Given the description of an element on the screen output the (x, y) to click on. 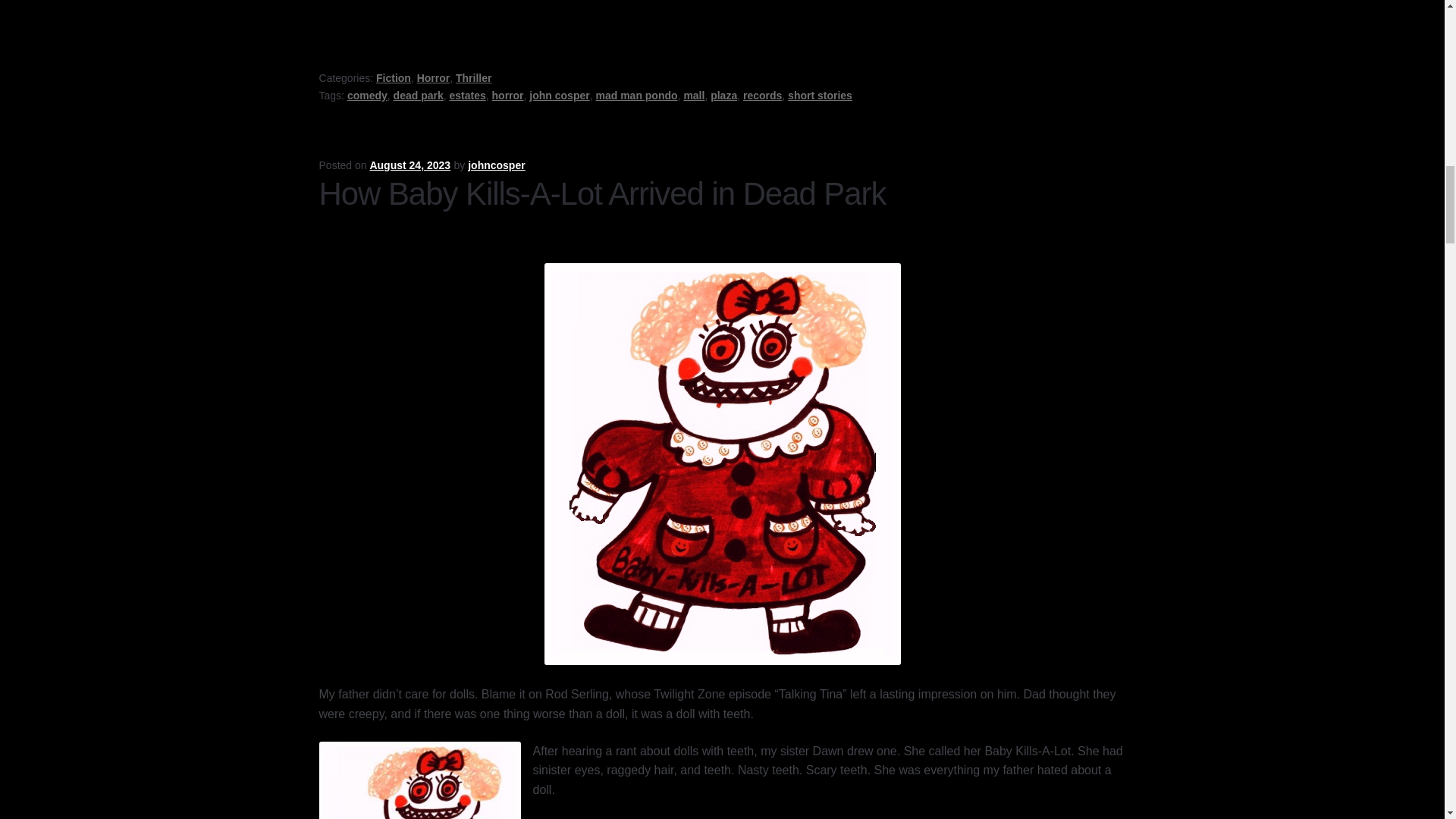
comedy (367, 95)
mad man pondo (636, 95)
Thriller (473, 78)
Horror (432, 78)
estates (466, 95)
Dead Park - Work Shop Live Die (690, 8)
Fiction (392, 78)
horror (508, 95)
john cosper (559, 95)
dead park (418, 95)
